Given the description of an element on the screen output the (x, y) to click on. 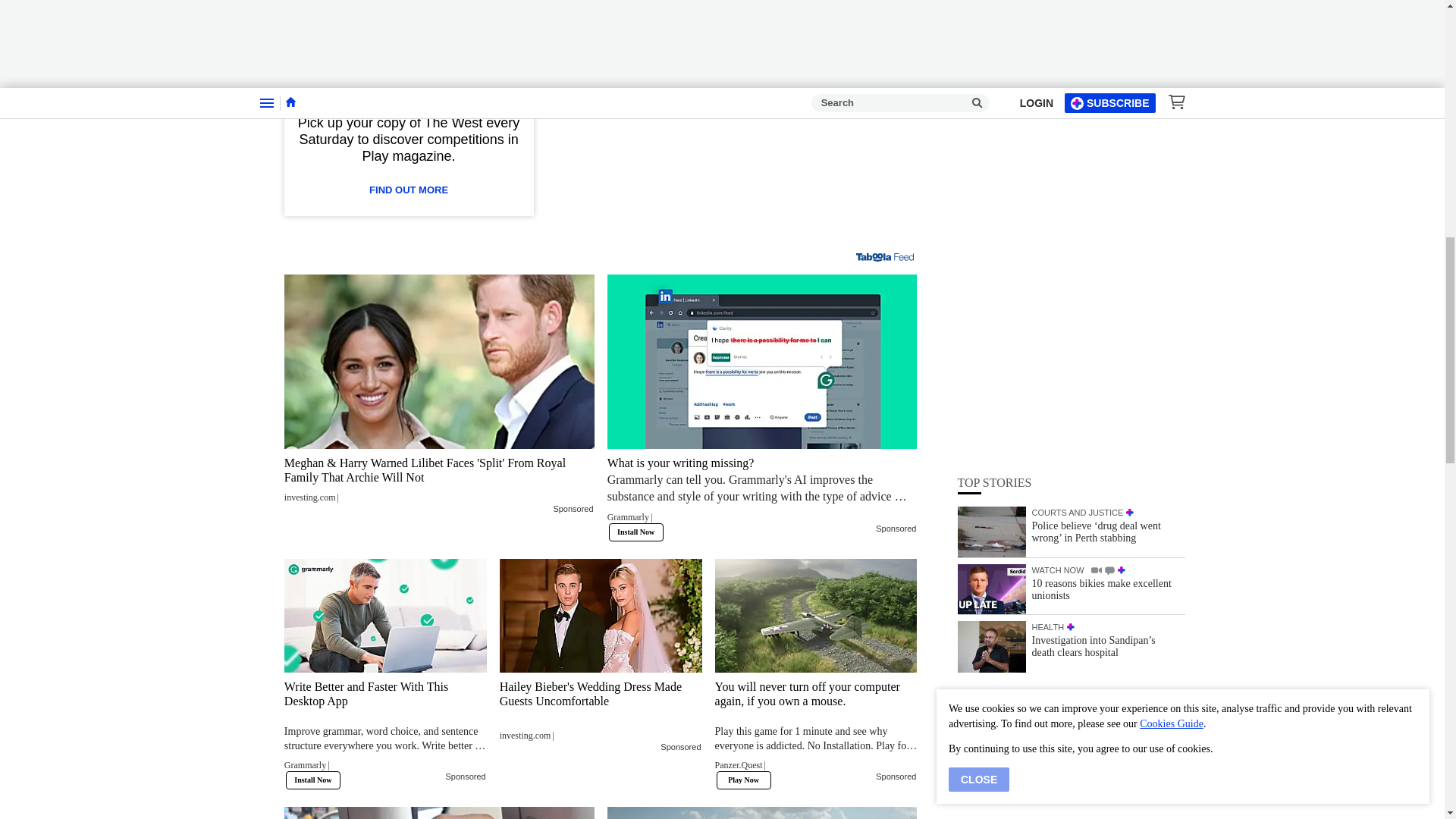
PREMIUM (1070, 225)
Premium (707, 14)
Hailey Bieber's Wedding Dress Made Guests Uncomfortable (600, 615)
PREMIUM (1129, 111)
What is your writing missing? (762, 494)
Hailey Bieber's Wedding Dress Made Guests Uncomfortable (600, 710)
Premium (753, 62)
COMMENTS (1110, 169)
VIDEO (1096, 168)
Write Better and Faster With This Desktop App (384, 615)
What is your writing missing? (762, 361)
PREMIUM (1121, 168)
Premium (772, 38)
Write Better and Faster With This Desktop App (384, 730)
